Given the description of an element on the screen output the (x, y) to click on. 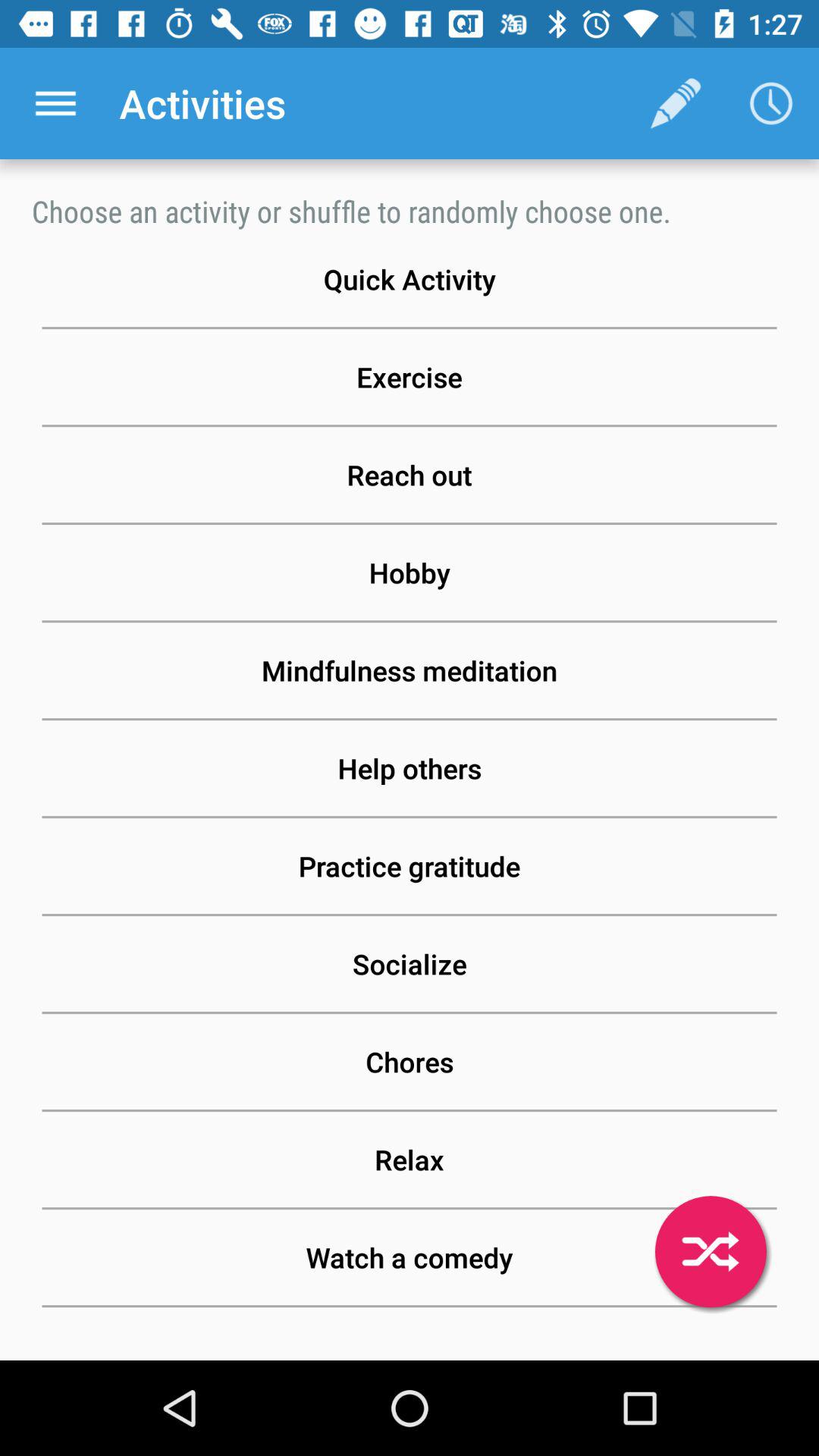
launch the icon next to activities app (55, 103)
